Given the description of an element on the screen output the (x, y) to click on. 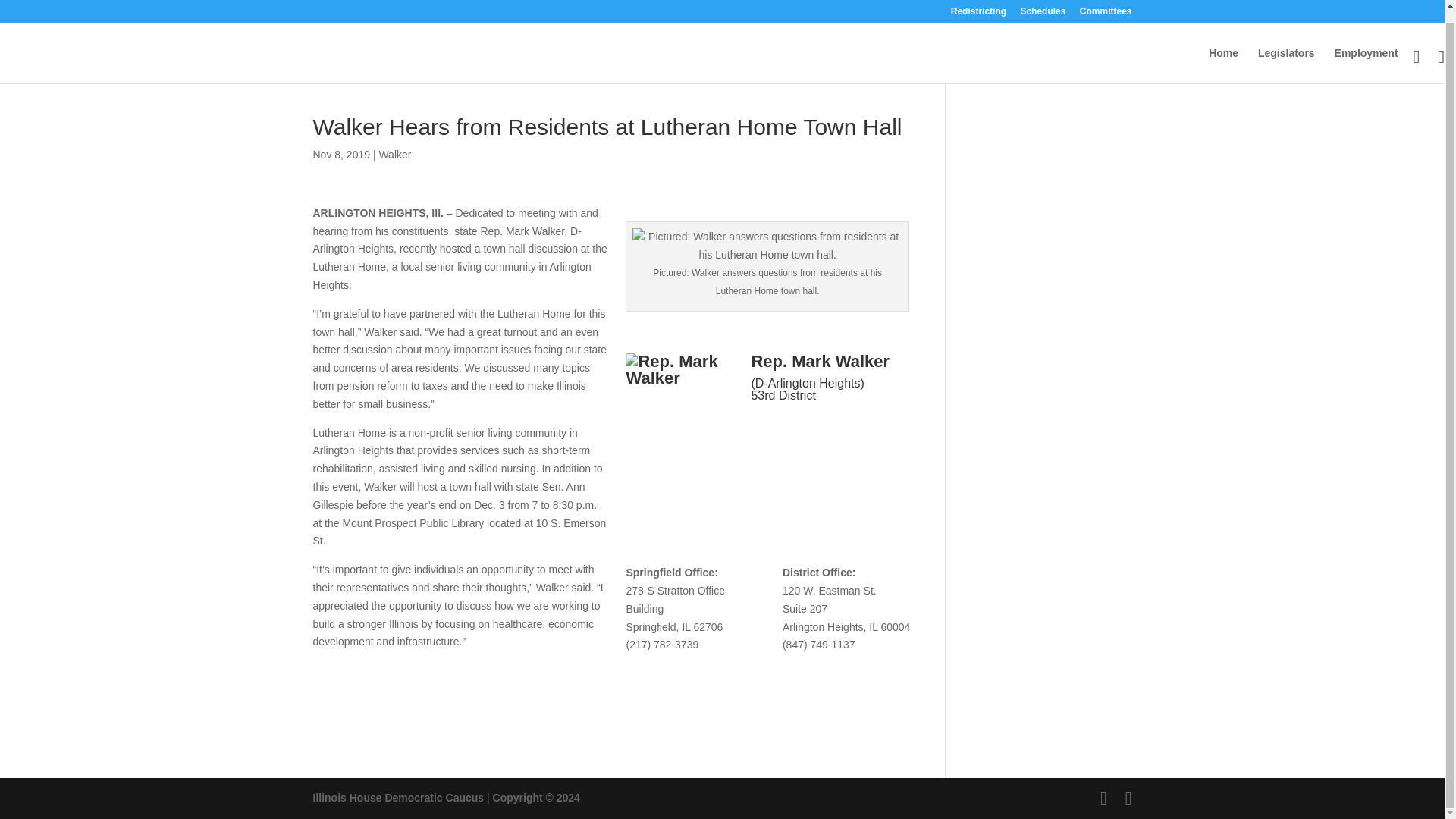
Walker (394, 154)
Employment (1366, 53)
Legislators (1285, 53)
IL House Democrats (398, 797)
Follow on Facebook (762, 430)
Committees (1106, 5)
Illinois House Democratic Caucus (398, 797)
Redistricting (978, 5)
Schedules (1042, 5)
